Given the description of an element on the screen output the (x, y) to click on. 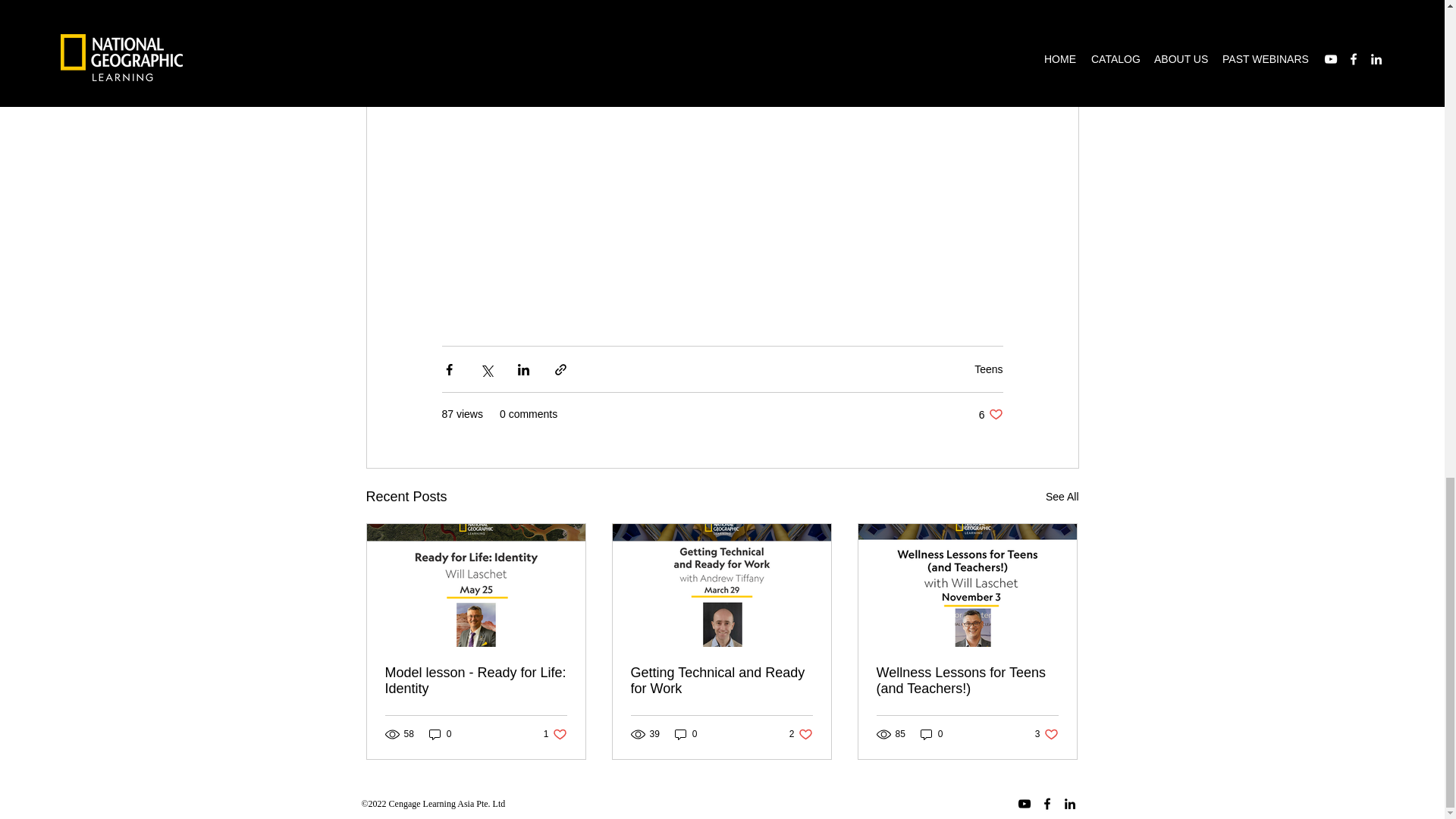
Model lesson - Ready for Life: Identity (800, 734)
0 (476, 680)
Teens (685, 734)
0 (1046, 734)
Getting Technical and Ready for Work (988, 369)
See All (931, 734)
0 (990, 414)
